Given the description of an element on the screen output the (x, y) to click on. 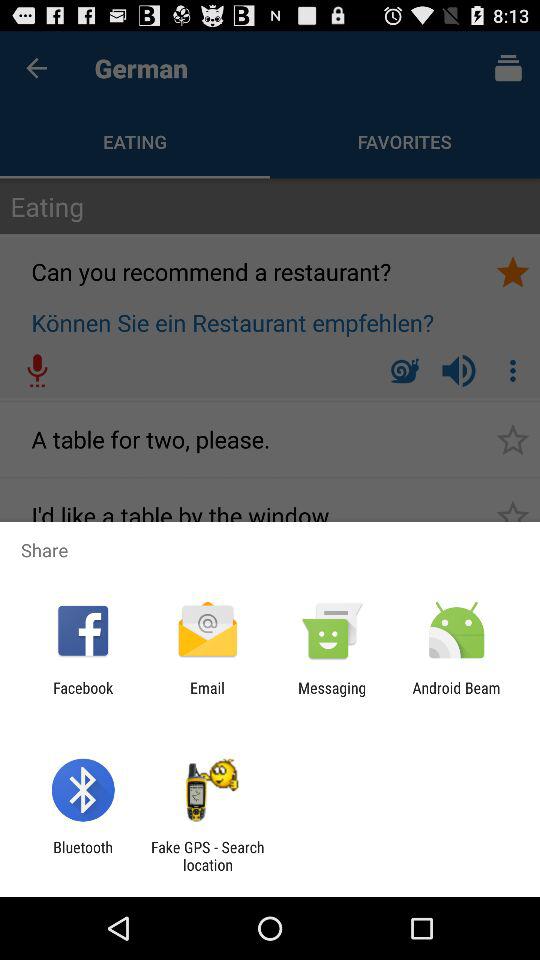
click the icon next to the messaging app (456, 696)
